Given the description of an element on the screen output the (x, y) to click on. 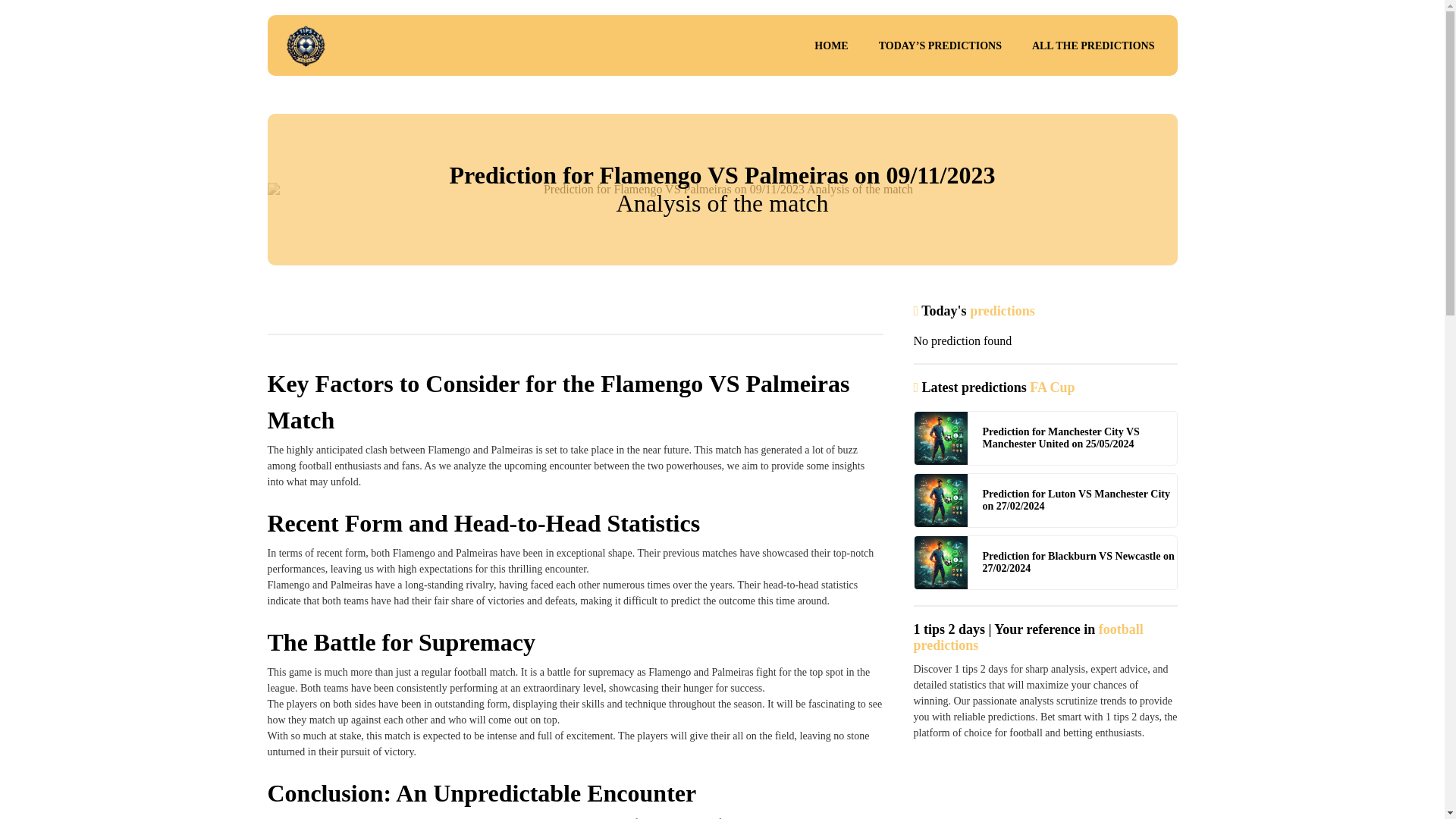
ALL THE PREDICTIONS (1093, 45)
HOME (831, 45)
